Given the description of an element on the screen output the (x, y) to click on. 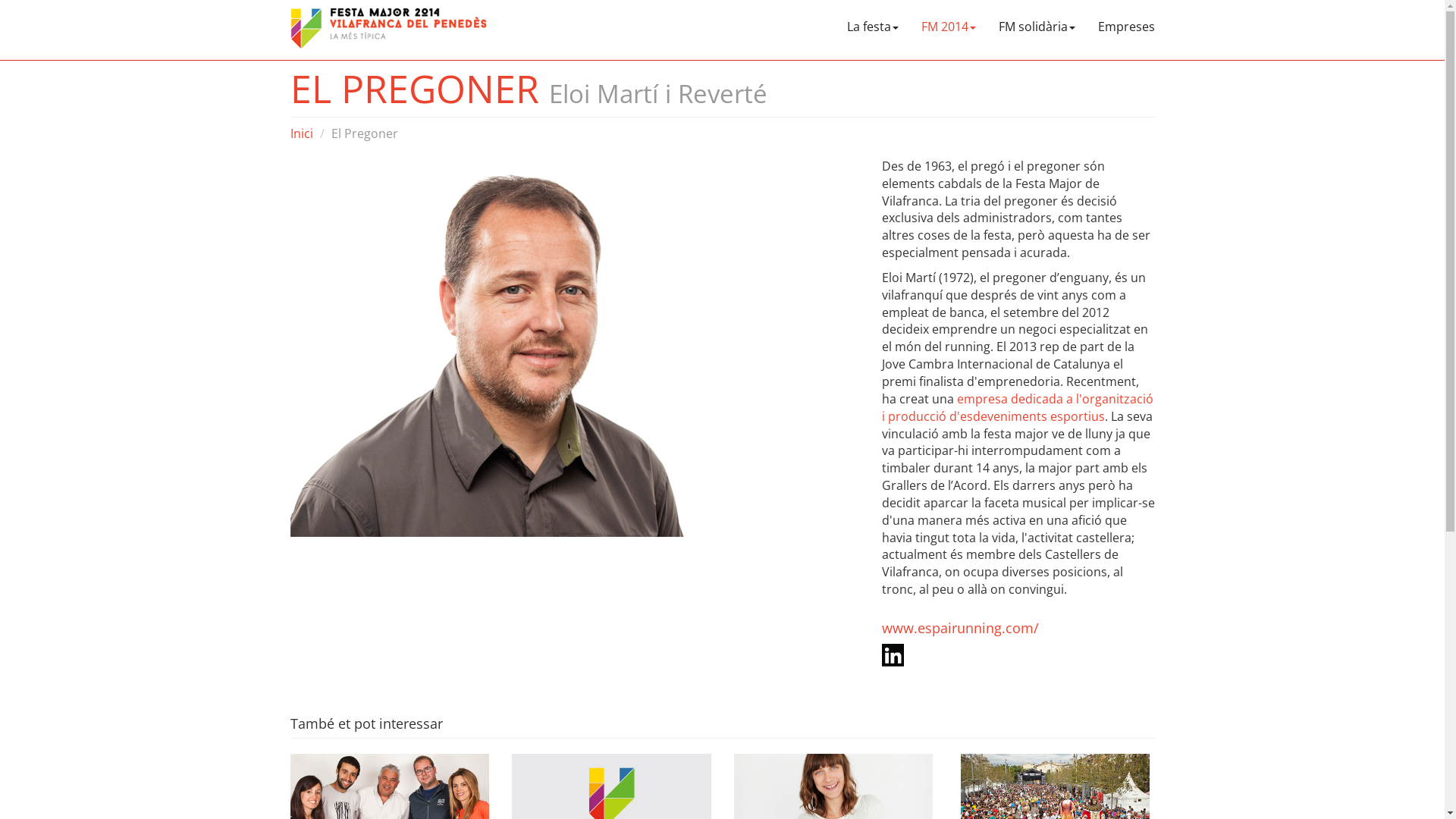
Inici Element type: text (300, 133)
La festa Element type: text (872, 22)
FM 2014 Element type: text (948, 22)
Empreses Element type: text (1125, 22)
www.espairunning.com/ Element type: text (959, 627)
